Given the description of an element on the screen output the (x, y) to click on. 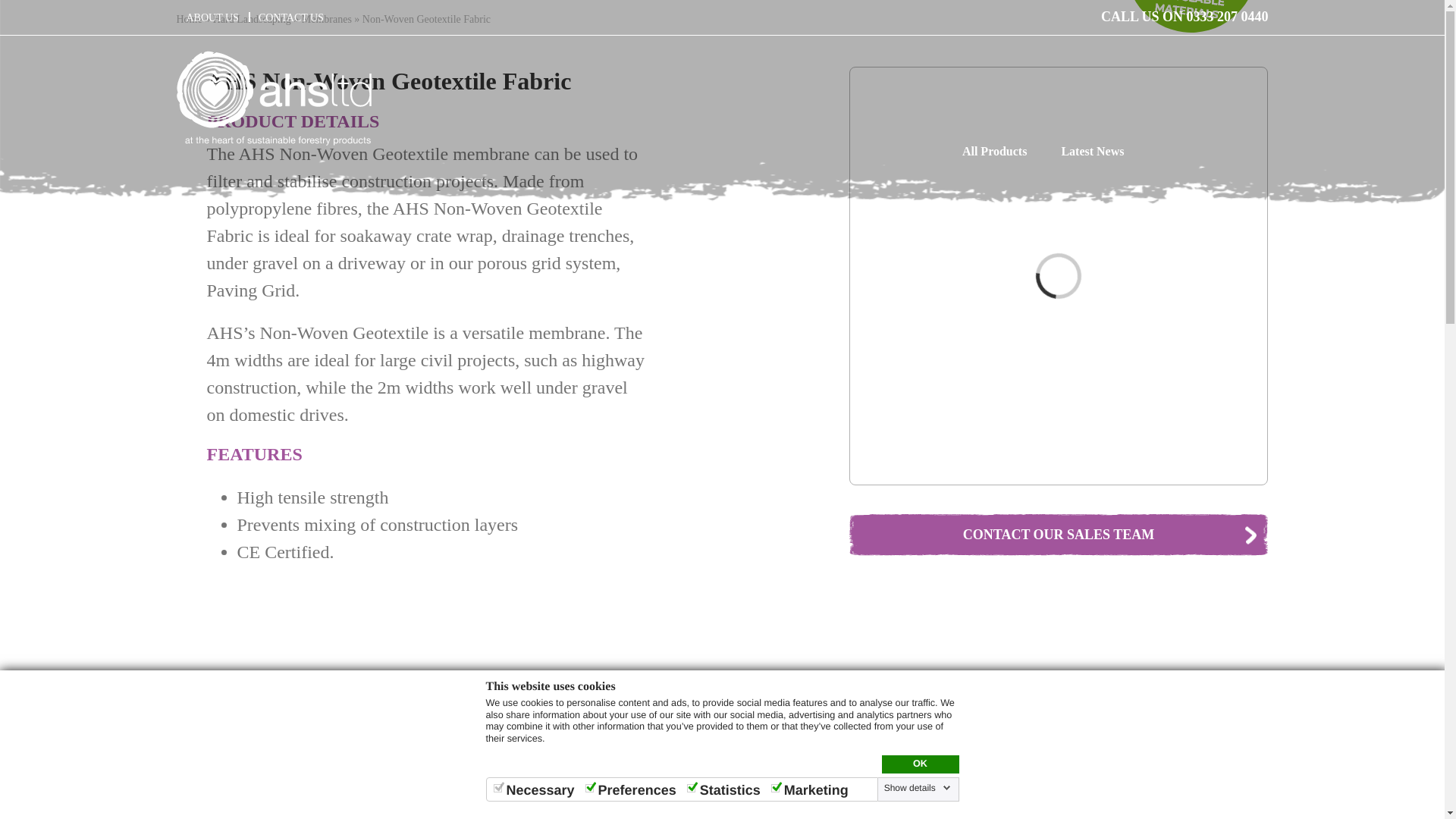
Show details (916, 787)
OK (919, 764)
